Given the description of an element on the screen output the (x, y) to click on. 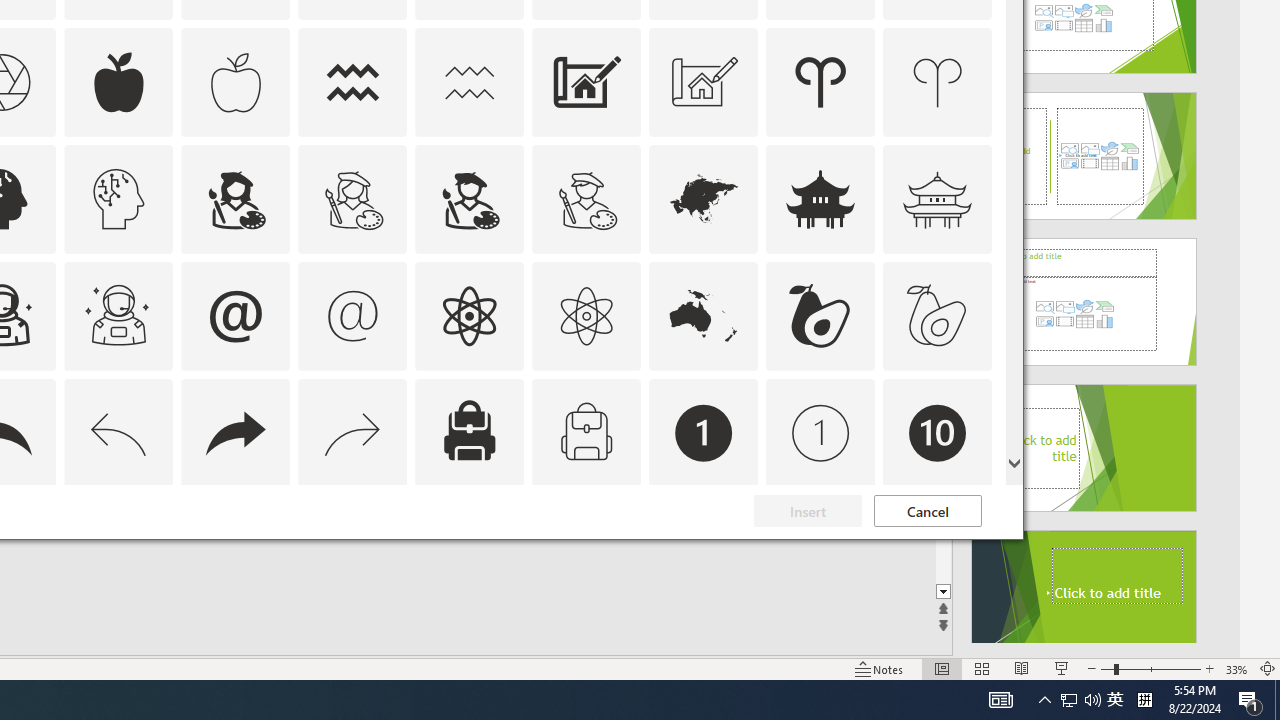
AutomationID: Icons_Back_RTL (235, 432)
AutomationID: Icons_Atom (469, 316)
AutomationID: Icons_Badge10 (938, 432)
AutomationID: Icons_ArtistMale_M (586, 198)
AutomationID: Icons_Badge8_M (703, 550)
